Given the description of an element on the screen output the (x, y) to click on. 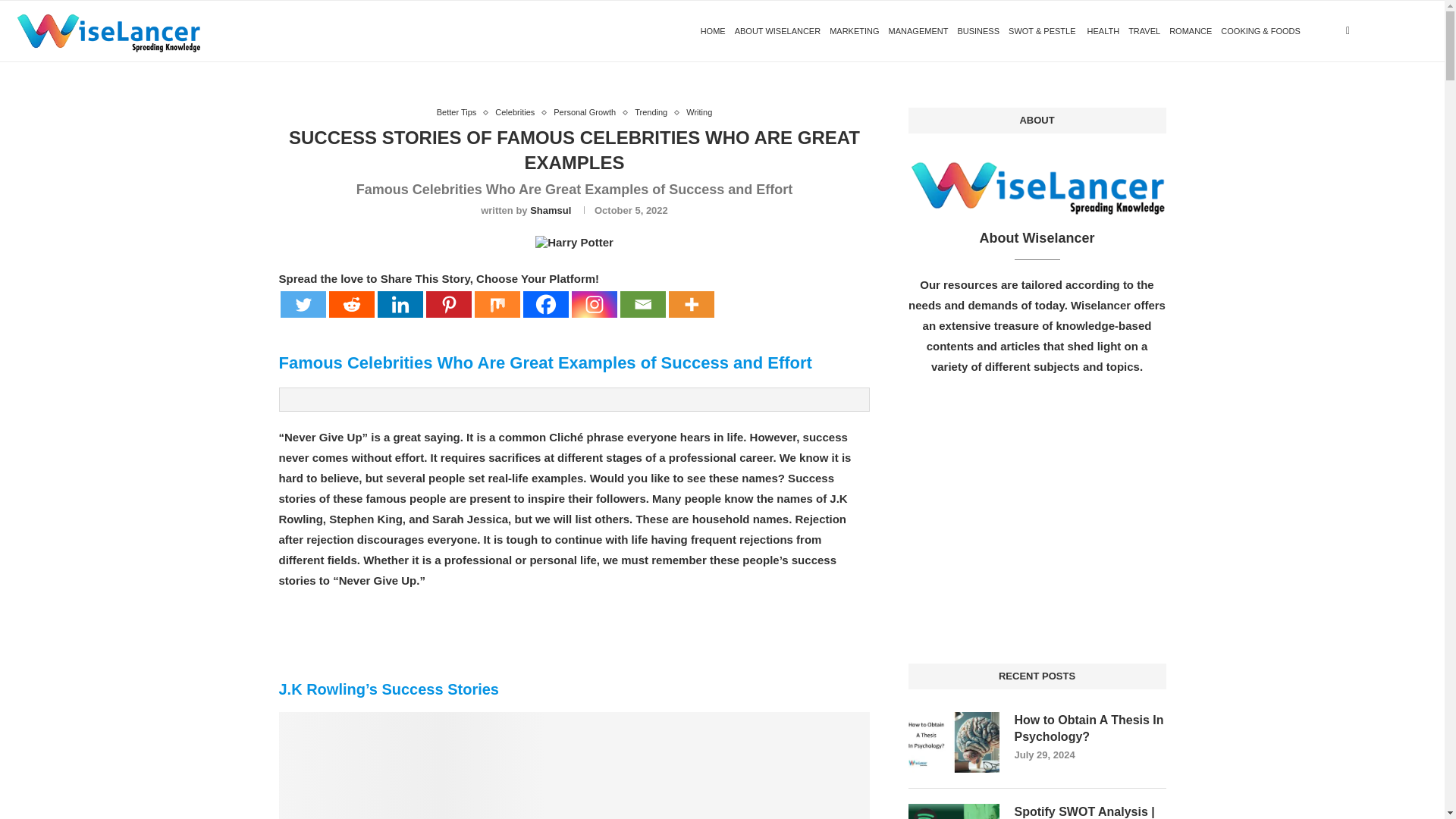
Celebrities (518, 112)
Trending (654, 112)
J.K. Rowling Success Stories (573, 241)
Linkedin (400, 304)
Reddit (351, 304)
More (691, 304)
Writing (698, 112)
Pinterest (448, 304)
Instagram (594, 304)
Better Tips (460, 112)
MANAGEMENT (918, 30)
Facebook (545, 304)
Twitter (303, 304)
Mix (496, 304)
ABOUT WISELANCER (778, 30)
